Given the description of an element on the screen output the (x, y) to click on. 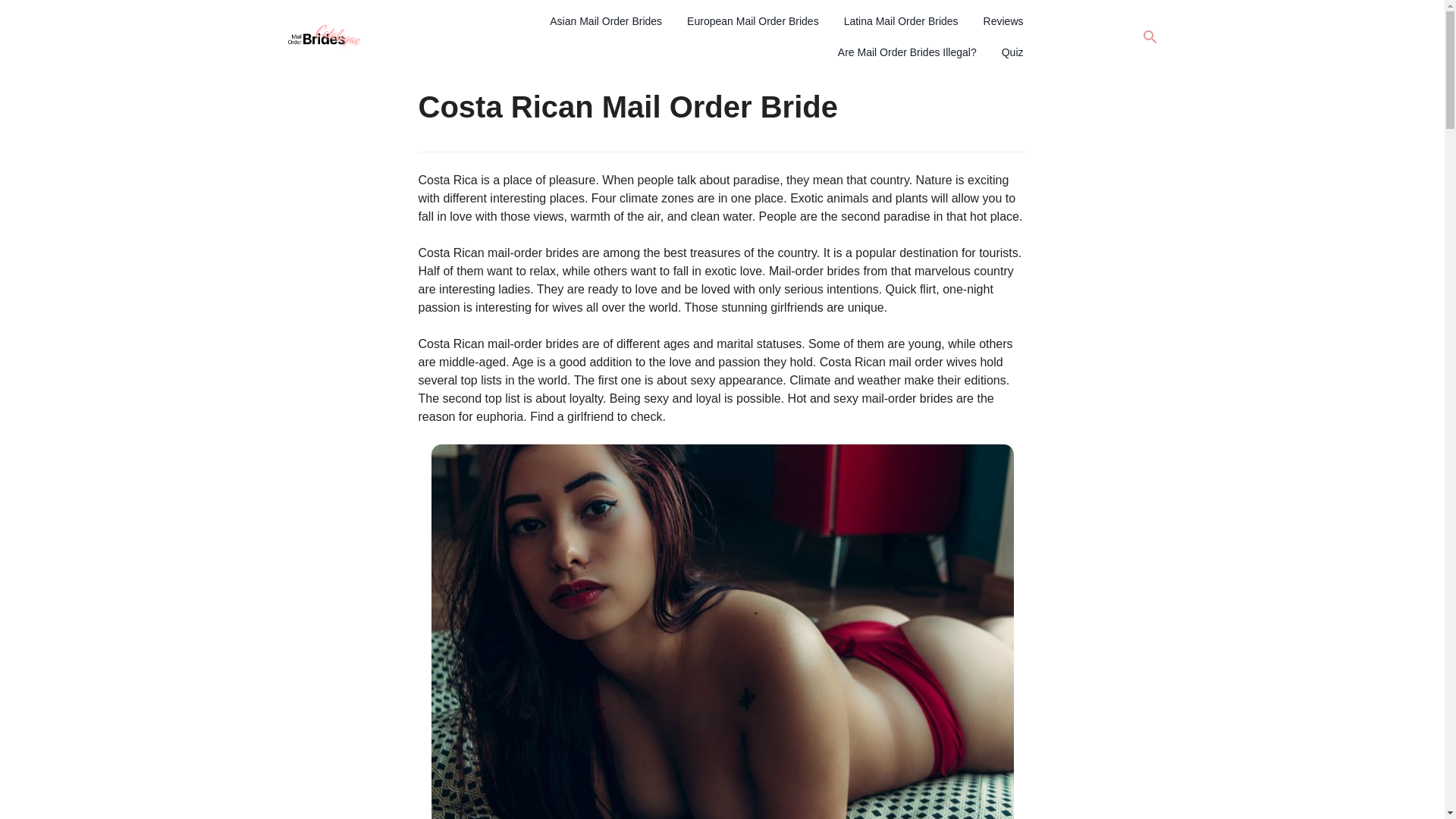
Are Mail Order Brides Illegal? (907, 52)
Latina Mail Order Brides (900, 21)
Asian Mail Order Brides (605, 21)
European Mail Order Brides (753, 21)
Reviews (1002, 21)
Quiz (1012, 52)
